Given the description of an element on the screen output the (x, y) to click on. 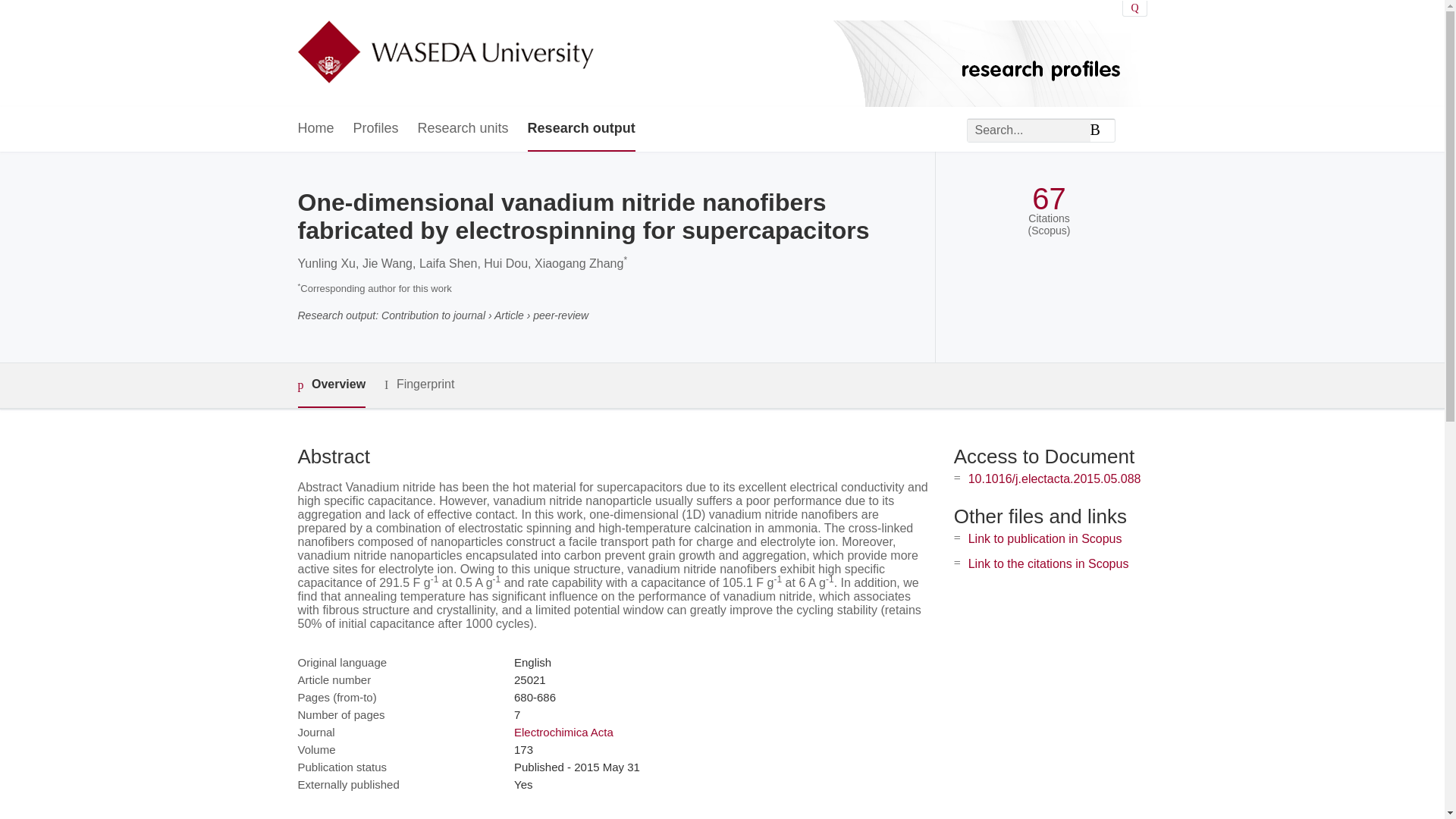
Profiles (375, 129)
Link to the citations in Scopus (1048, 563)
Electrochimica Acta (562, 731)
67 (1048, 198)
Link to publication in Scopus (1045, 538)
Overview (331, 385)
Research output (580, 129)
Research units (462, 129)
Waseda University Home (444, 53)
Fingerprint (419, 384)
